Given the description of an element on the screen output the (x, y) to click on. 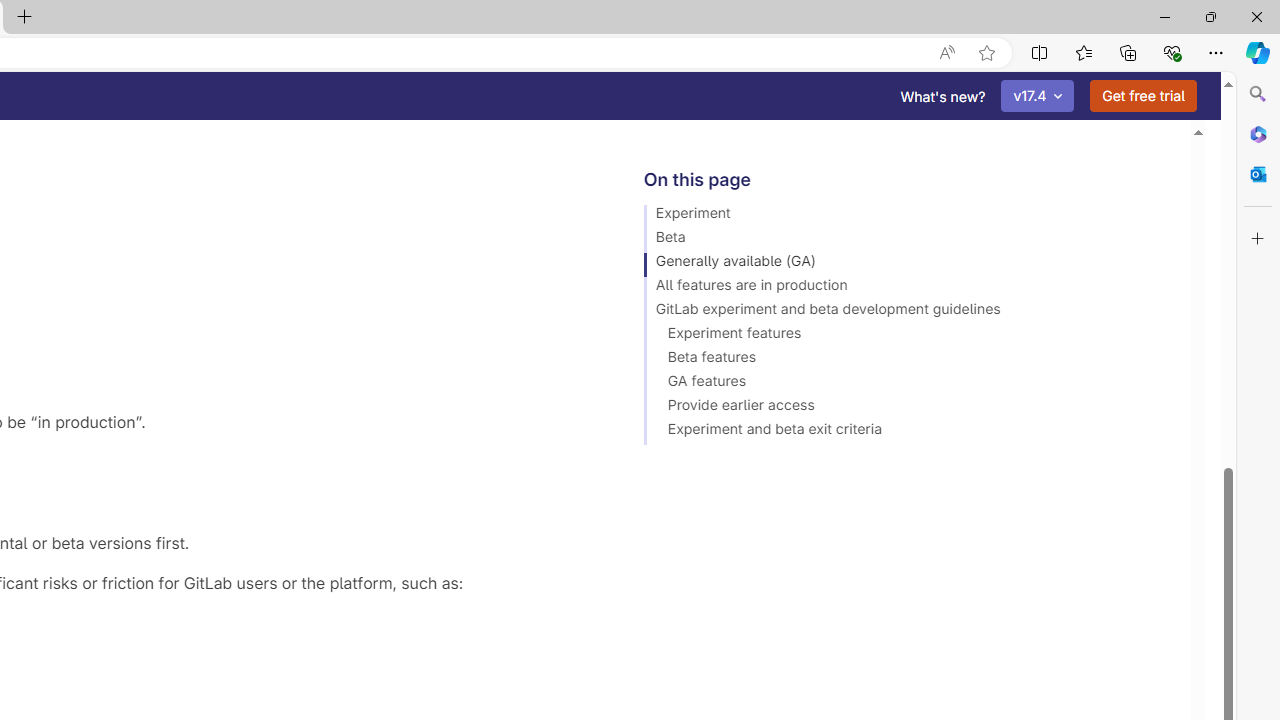
What's new? (943, 96)
Beta features (908, 359)
What's new? (943, 96)
Experiment features (908, 336)
All features are in production (908, 287)
Beta (908, 240)
GA features (908, 384)
Experiment and beta exit criteria (908, 431)
All features are in production (908, 287)
